Given the description of an element on the screen output the (x, y) to click on. 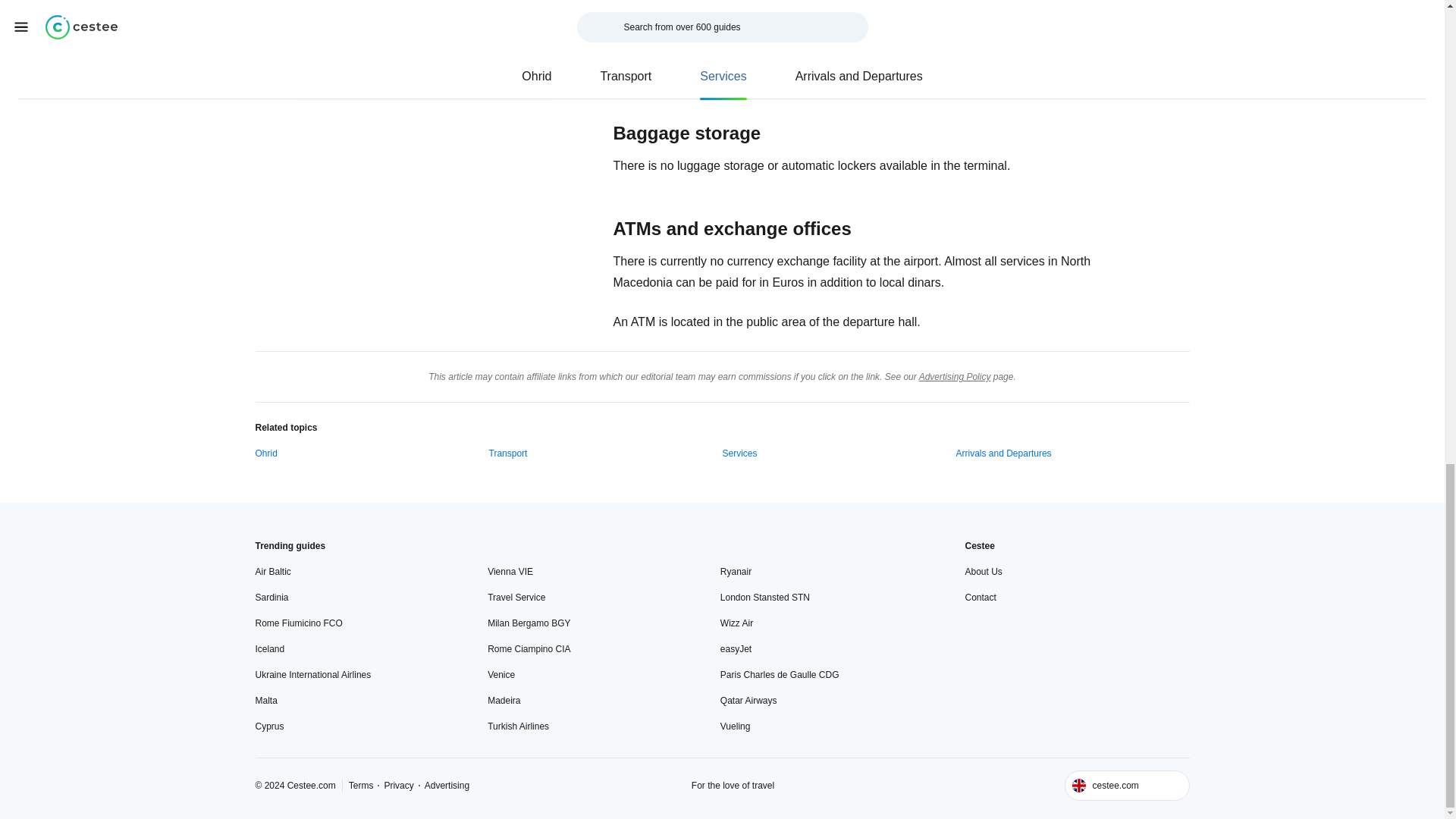
Air Baltic (271, 571)
London Stansted STN (764, 597)
easyJet (735, 648)
Iceland (268, 648)
Rome Ciampino CIA (528, 648)
Sardinia (271, 597)
Ukraine International Airlines (312, 674)
Advertisement (410, 77)
Wizz Air (736, 623)
Advertising Policy (954, 376)
Services (739, 453)
Travel Service (515, 597)
Vienna VIE (509, 571)
Milan Bergamo BGY (528, 623)
Ryanair (735, 571)
